Given the description of an element on the screen output the (x, y) to click on. 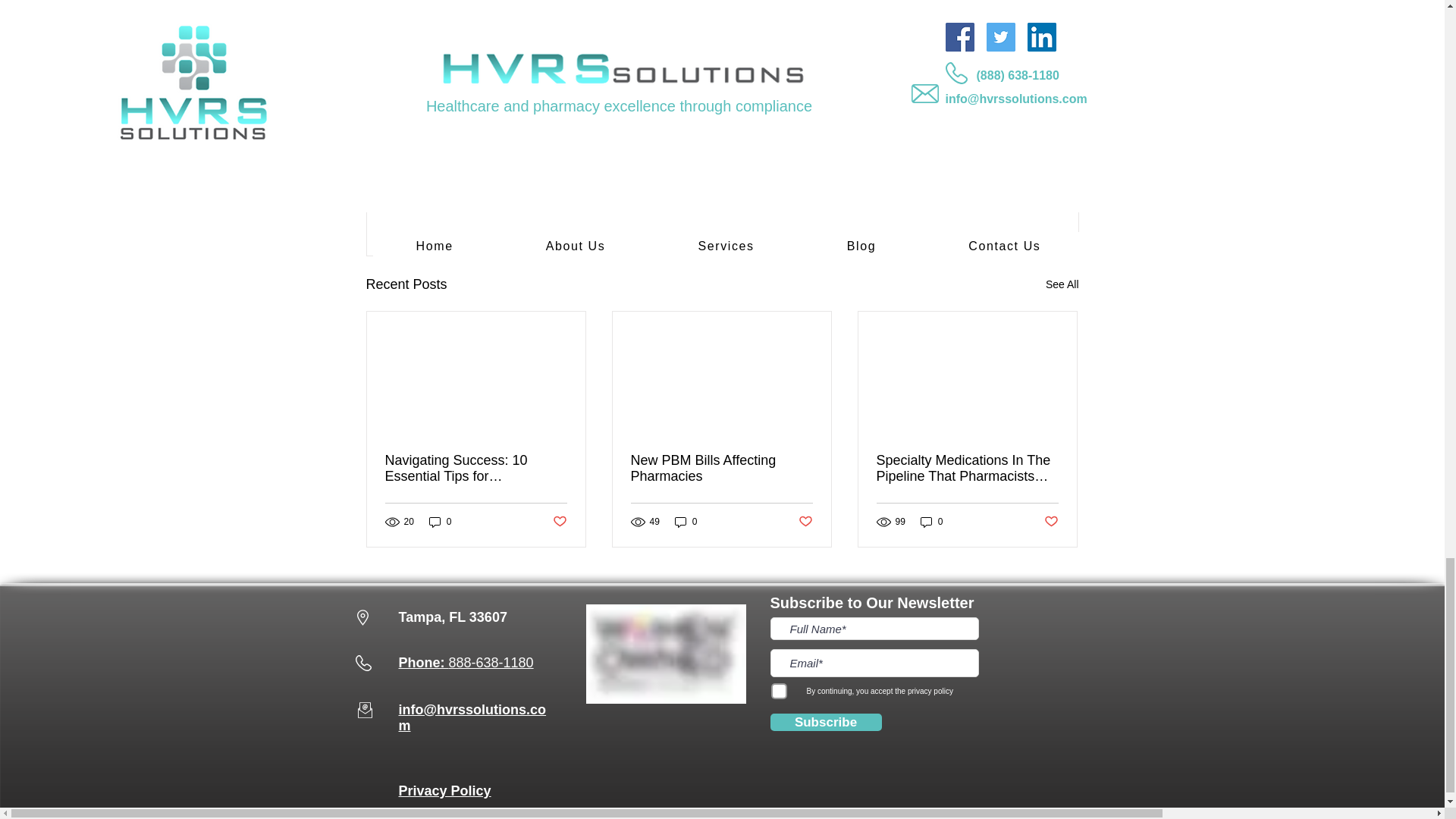
Contact us (473, 64)
Post not marked as liked (995, 201)
See All (1061, 284)
